Given the description of an element on the screen output the (x, y) to click on. 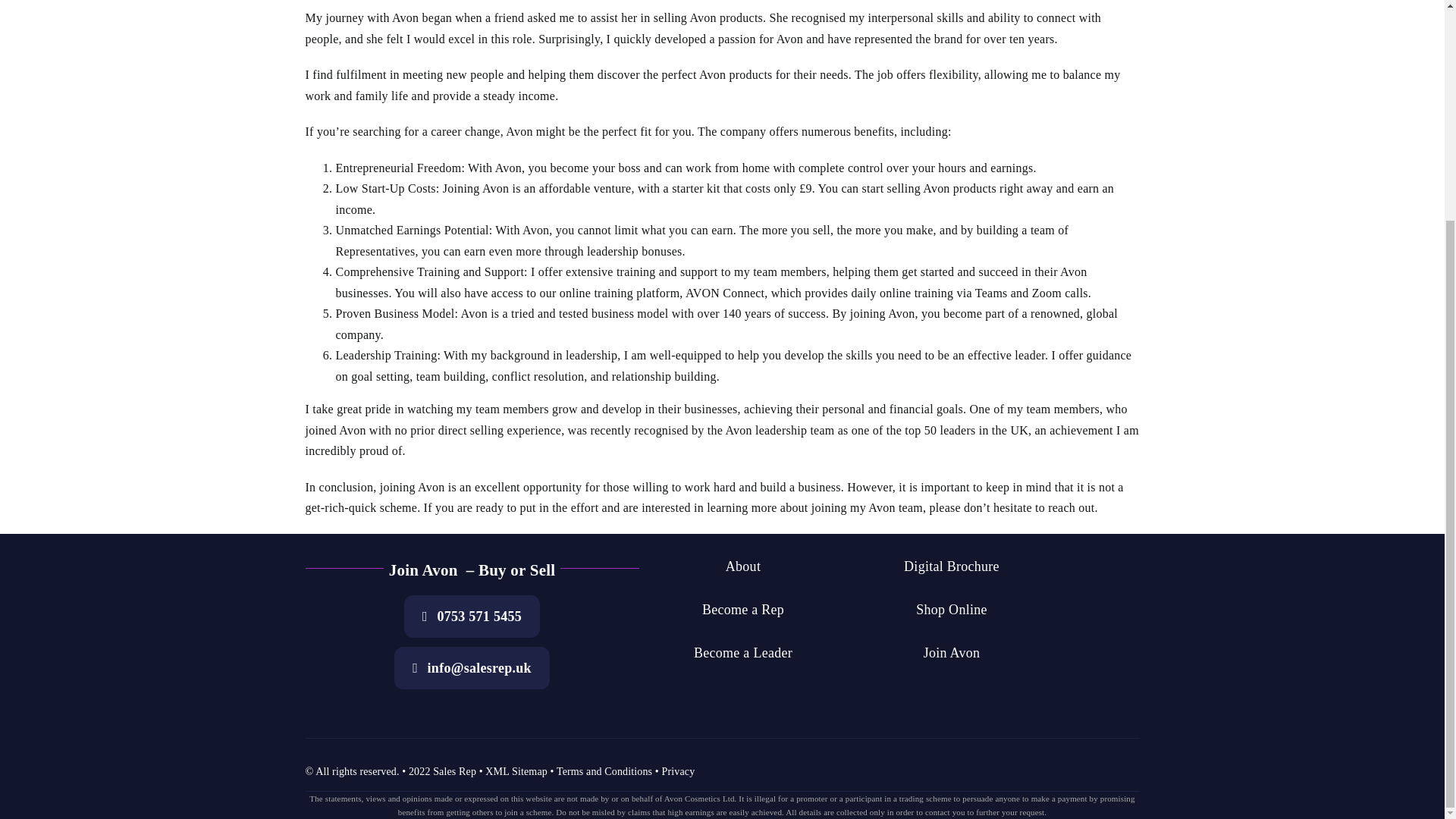
joining Avon (412, 486)
0753 571 5455 (472, 616)
Avon leadership (765, 430)
Become a Rep (743, 610)
Avon (405, 17)
About (743, 566)
